Given the description of an element on the screen output the (x, y) to click on. 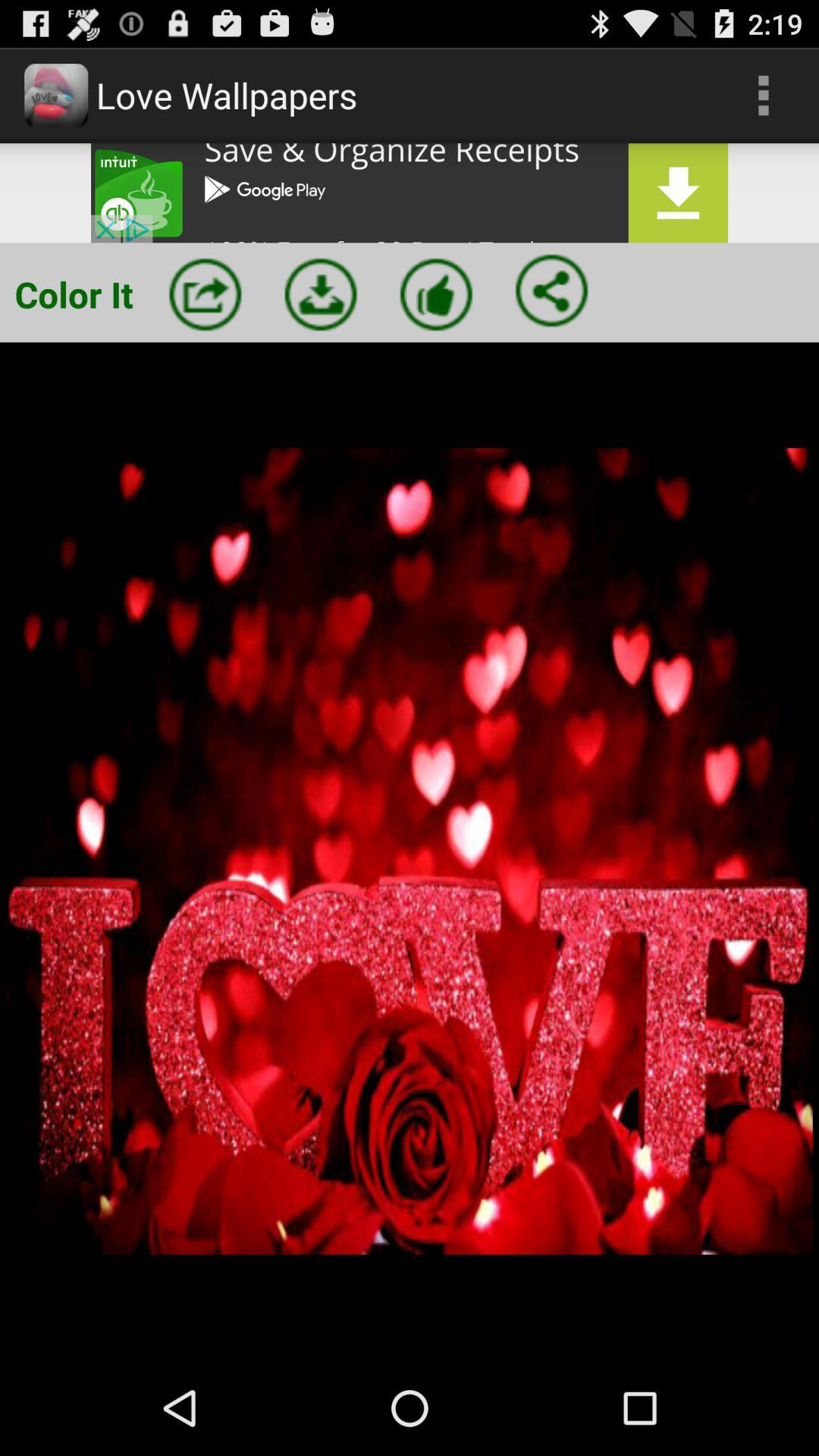
save as favorite (436, 294)
